Given the description of an element on the screen output the (x, y) to click on. 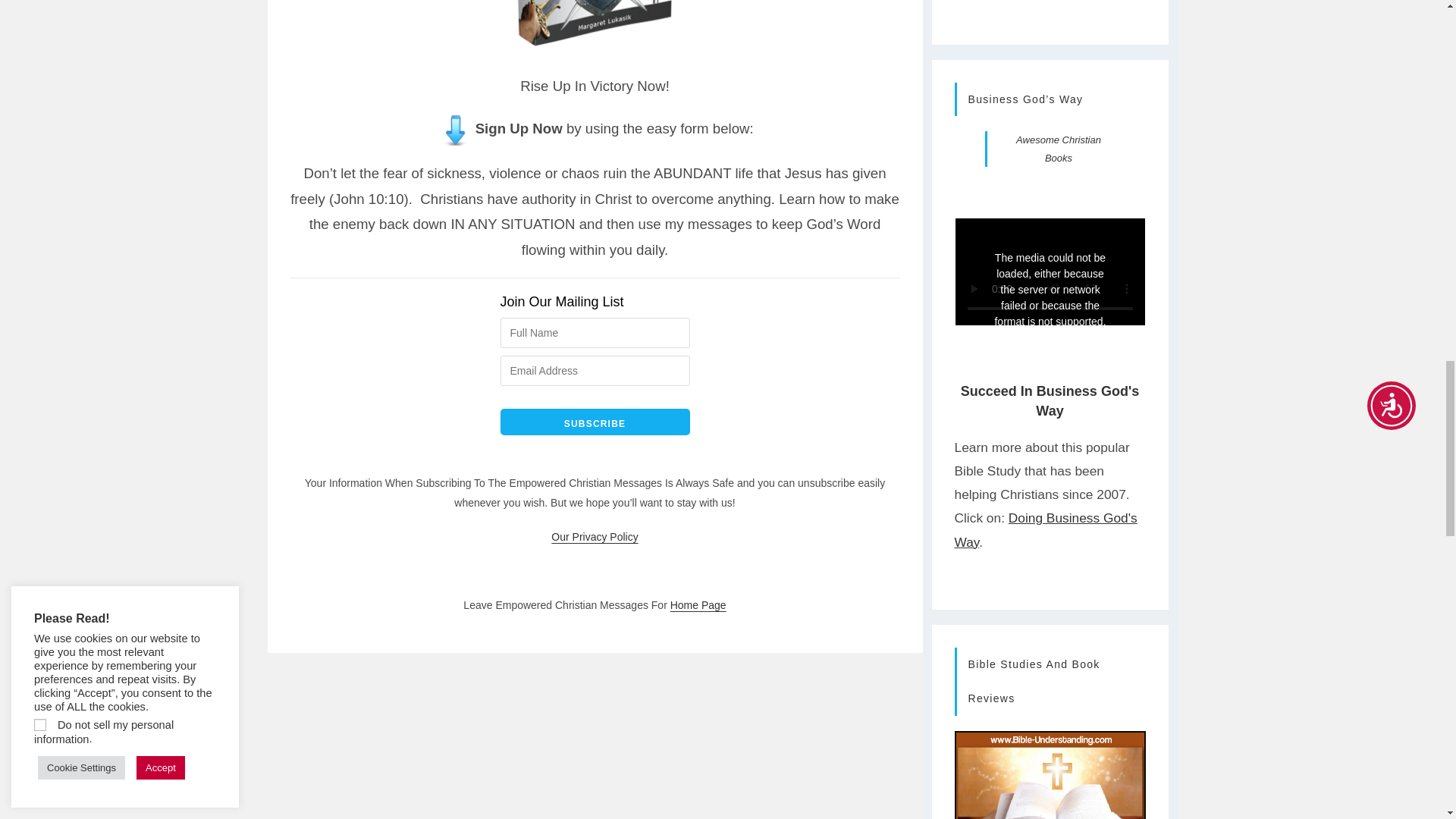
Subscribe (595, 421)
